Given the description of an element on the screen output the (x, y) to click on. 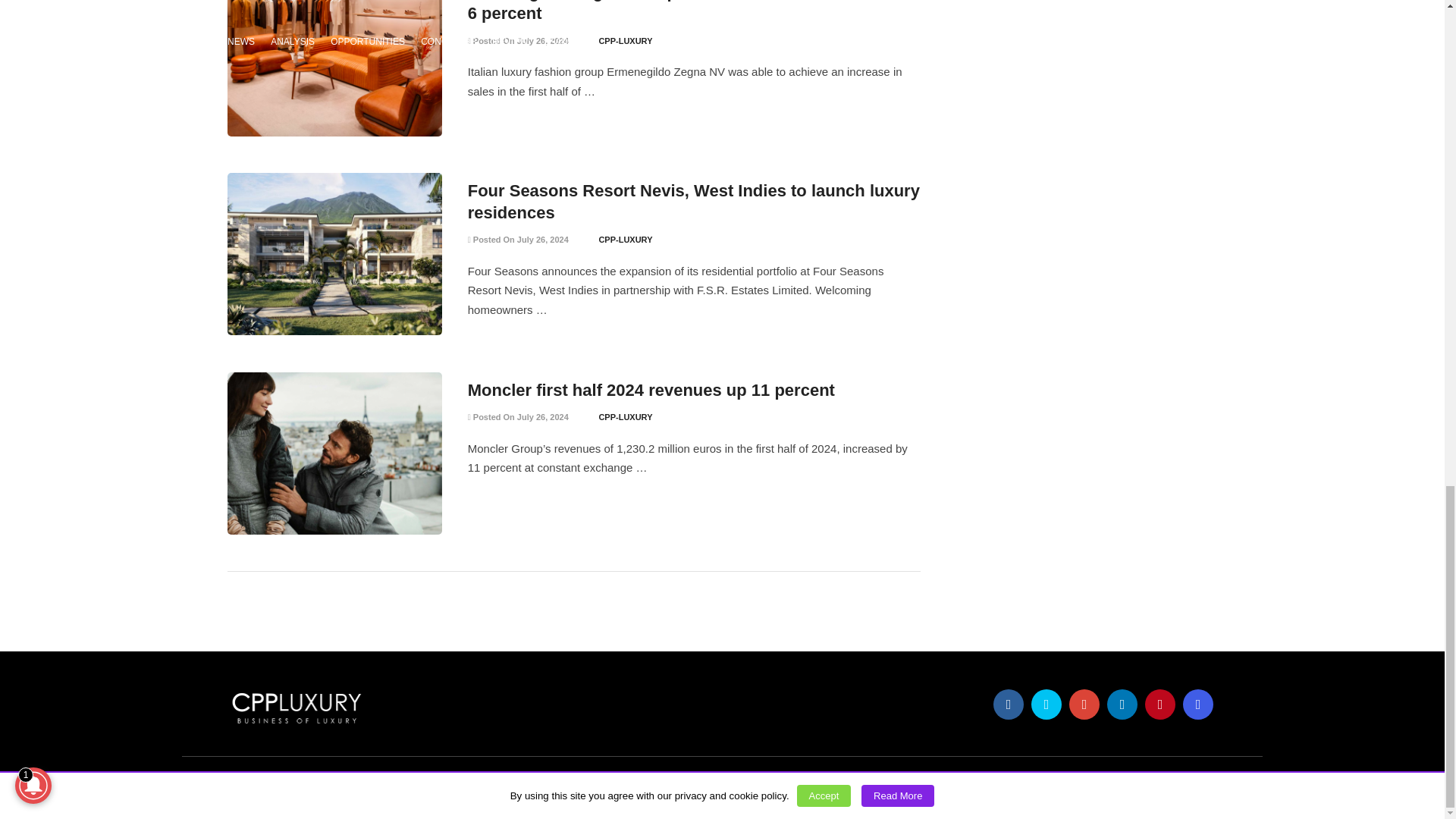
Moncler first half 2024 revenues up 11 percent (650, 389)
Posted On July 26, 2024 (518, 40)
CPP-LUXURY (625, 40)
